Given the description of an element on the screen output the (x, y) to click on. 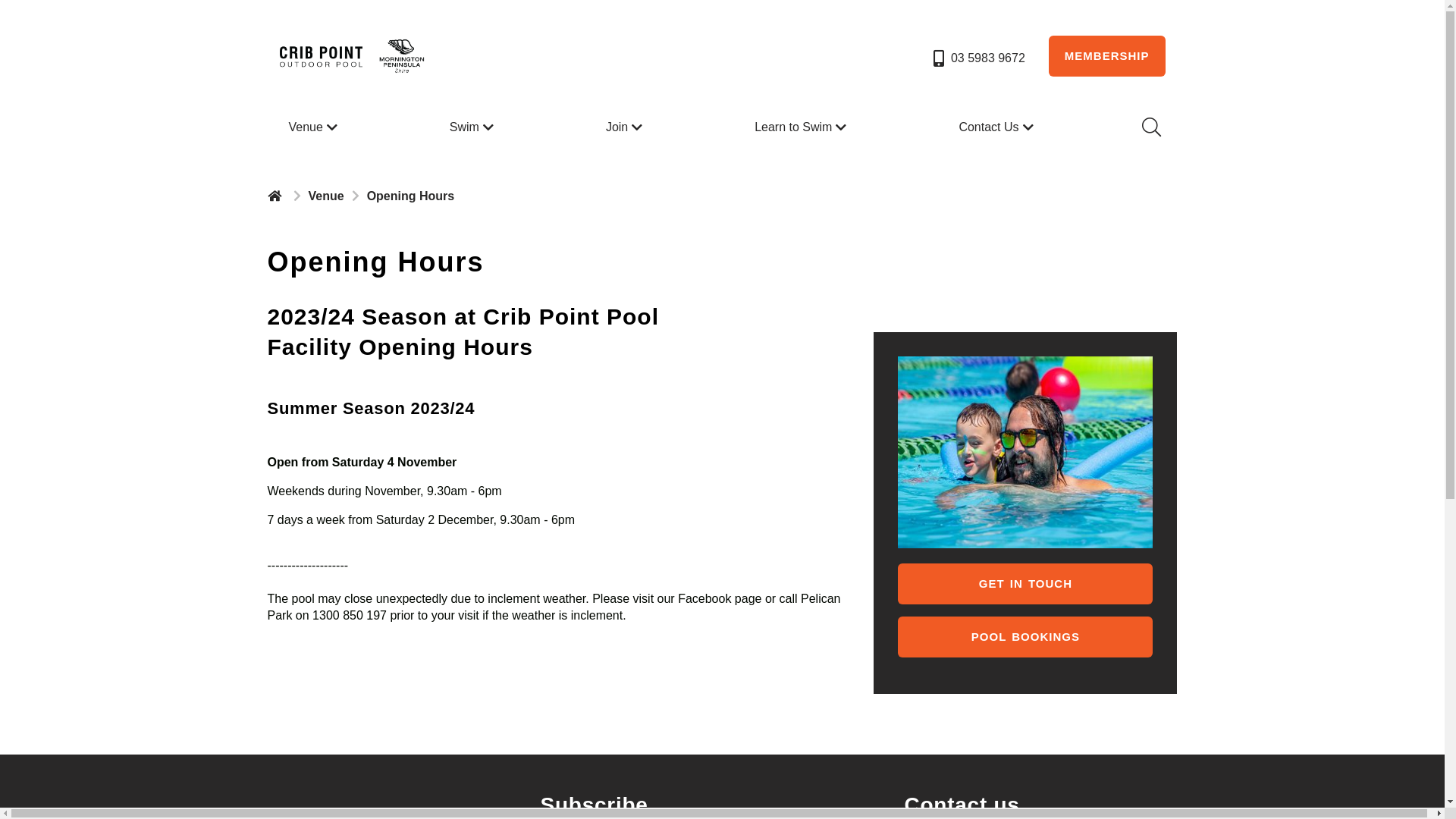
POOL BOOKINGS Element type: text (1024, 636)
52713860_533467210394021_7386940395856330752_o-(1).jpg Element type: hover (1024, 452)
MEMBERSHIP Element type: text (1106, 55)
Contact Us Element type: text (997, 127)
Venue Element type: text (314, 127)
Learn to Swim Element type: text (802, 127)
GET IN TOUCH Element type: text (1024, 583)
Join Element type: text (625, 127)
Search Element type: text (1150, 127)
Swim Element type: text (473, 127)
  Element type: text (275, 195)
03 5983 9672 Element type: text (977, 58)
